Given the description of an element on the screen output the (x, y) to click on. 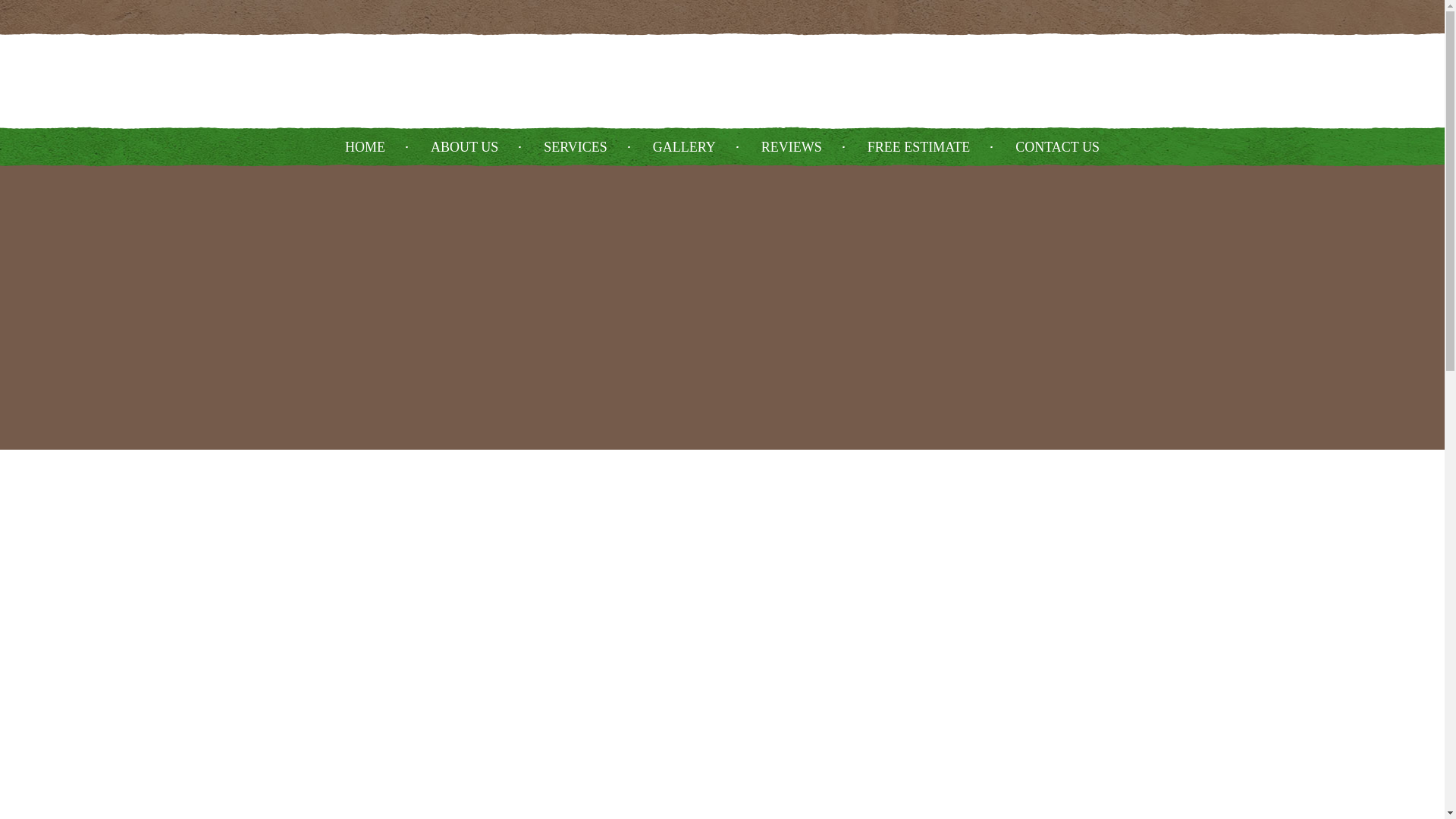
REVIEWS (791, 146)
GALLERY (683, 146)
ABOUT US (463, 146)
HOME (365, 146)
FREE ESTIMATE (918, 146)
SERVICES (575, 146)
CONTACT US (1057, 146)
